Given the description of an element on the screen output the (x, y) to click on. 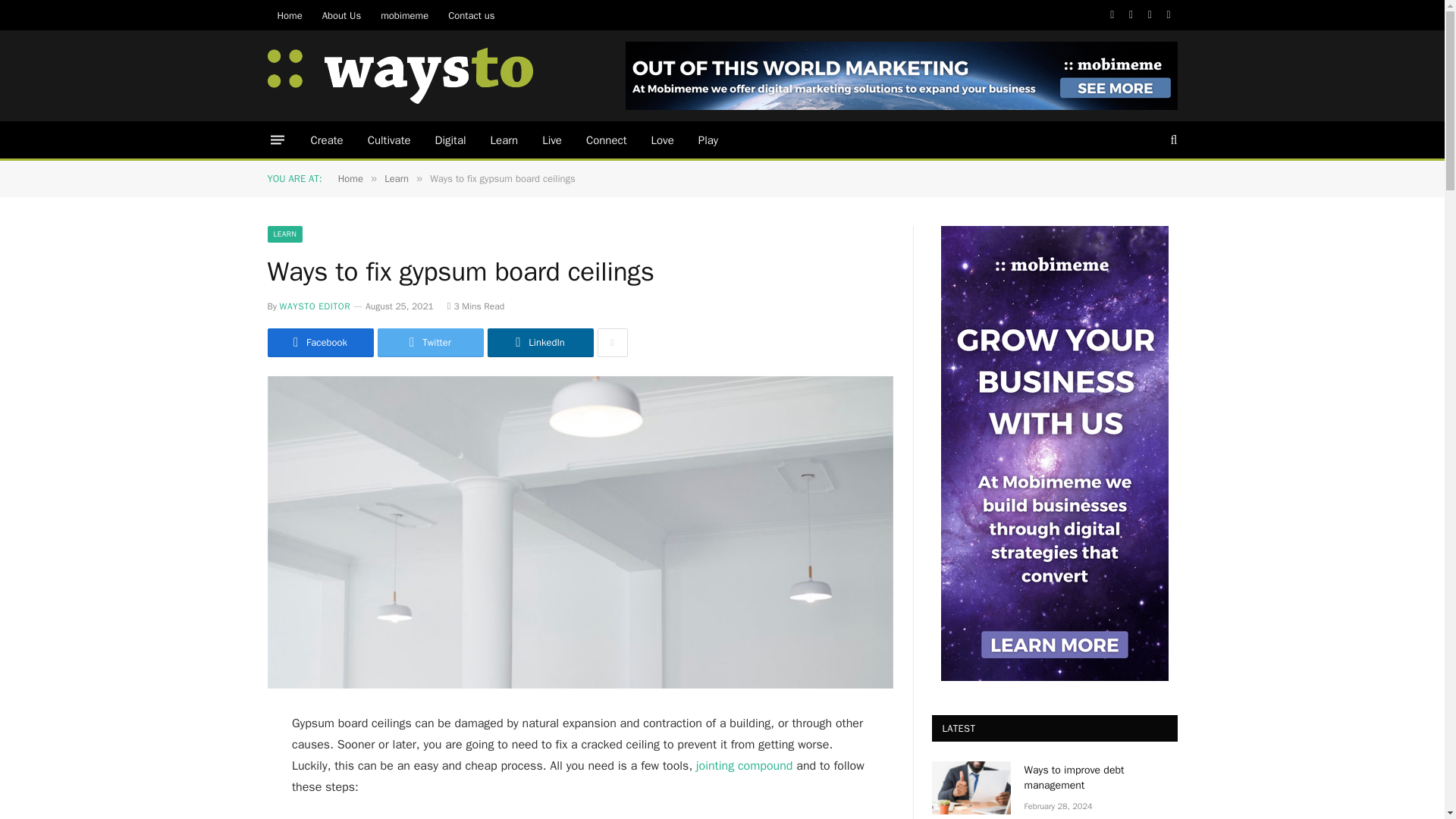
Share on LinkedIn (539, 342)
Show More Social Sharing (611, 342)
mobimeme (901, 75)
Posts by WaysTo Editor (314, 306)
Facebook (319, 342)
Connect (606, 139)
WaysTo.digital (399, 75)
WAYSTO EDITOR (314, 306)
Cultivate (389, 139)
Live (551, 139)
